Given the description of an element on the screen output the (x, y) to click on. 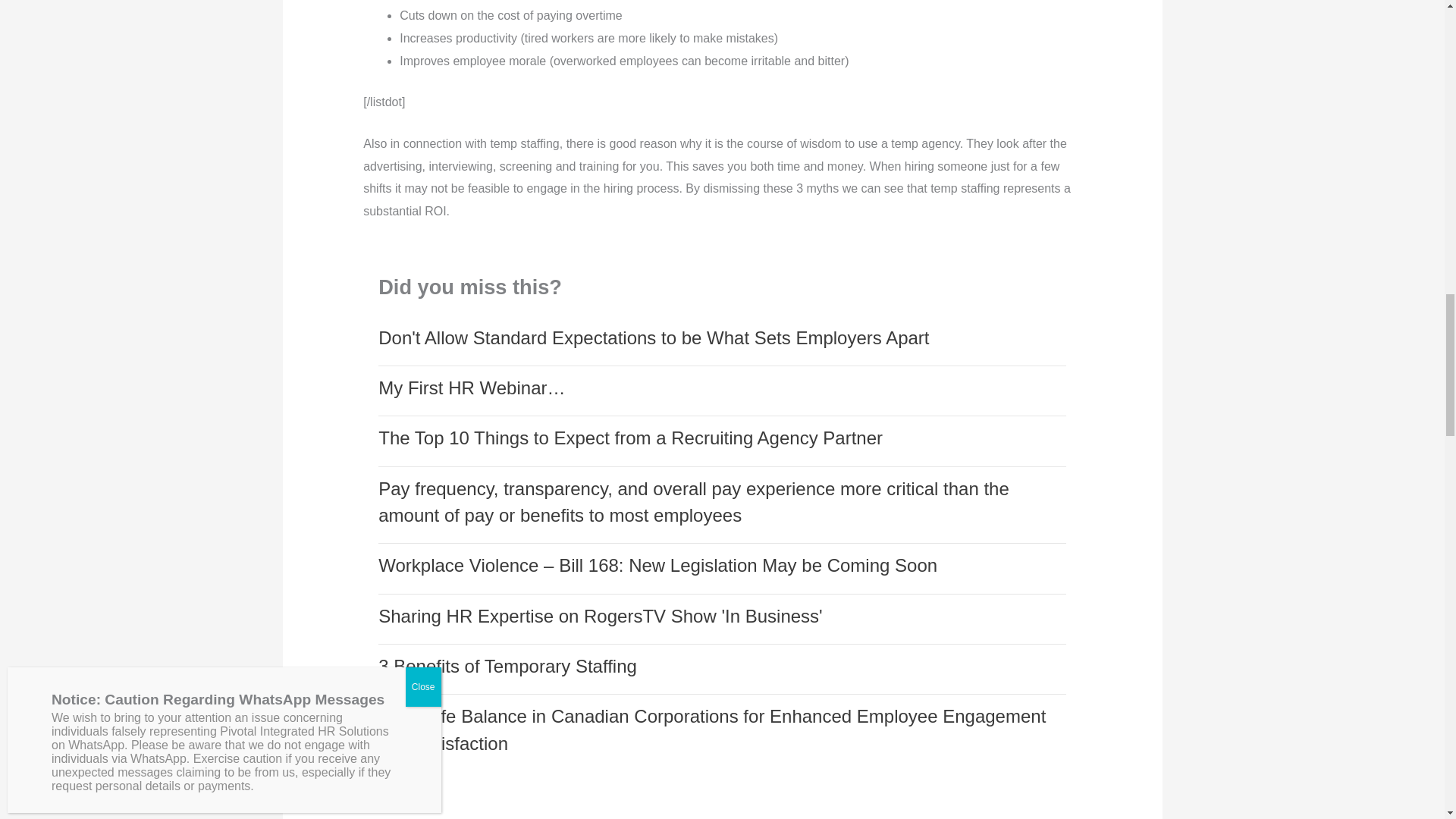
The Top 10 Things to Expect from a Recruiting Agency Partner (630, 437)
3 Benefits of Temporary Staffing (507, 666)
Sharing HR Expertise on RogersTV Show 'In Business' (600, 616)
